Given the description of an element on the screen output the (x, y) to click on. 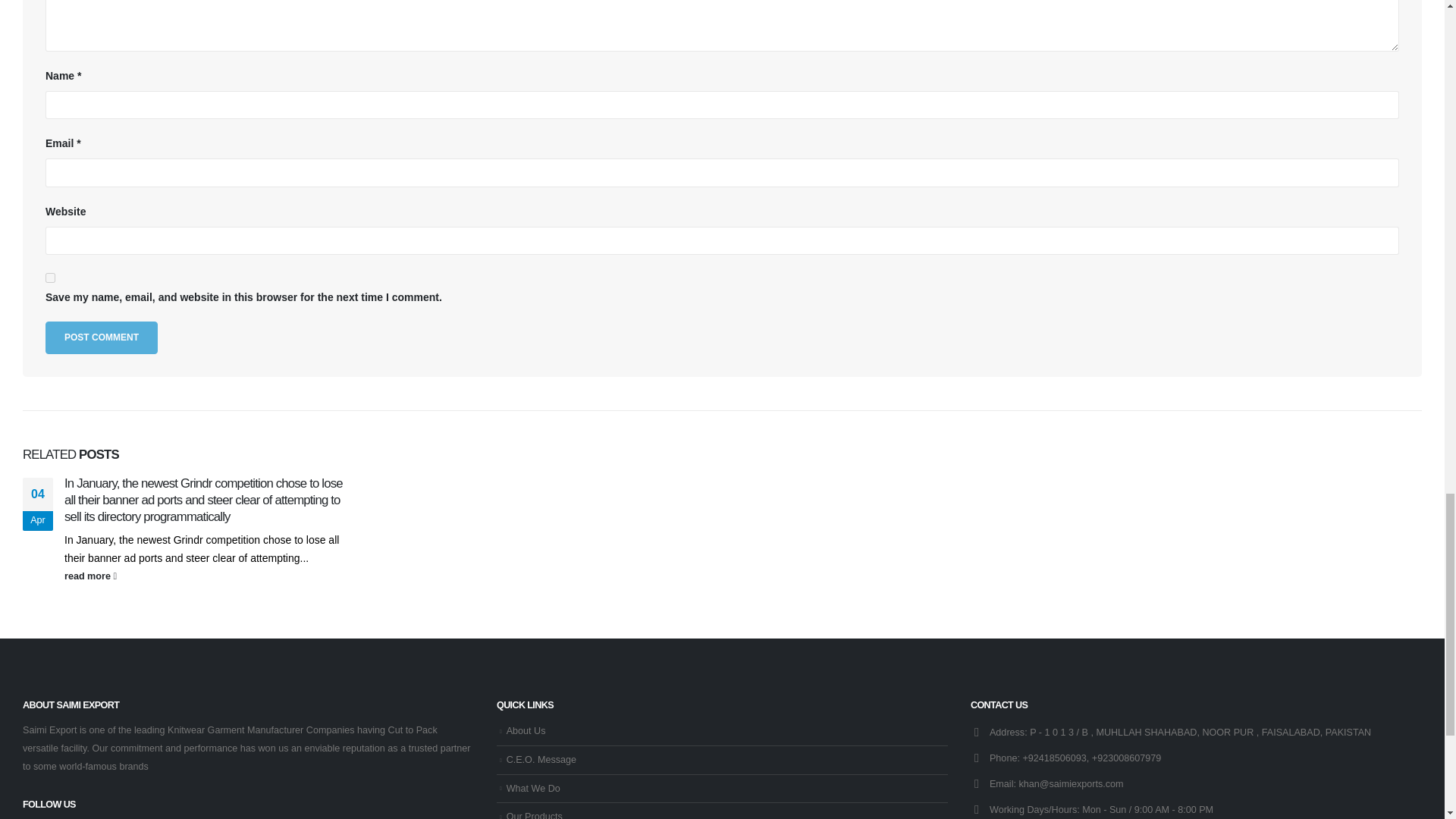
yes (50, 277)
Post Comment (101, 337)
Post Comment (101, 337)
read more (209, 576)
